Given the description of an element on the screen output the (x, y) to click on. 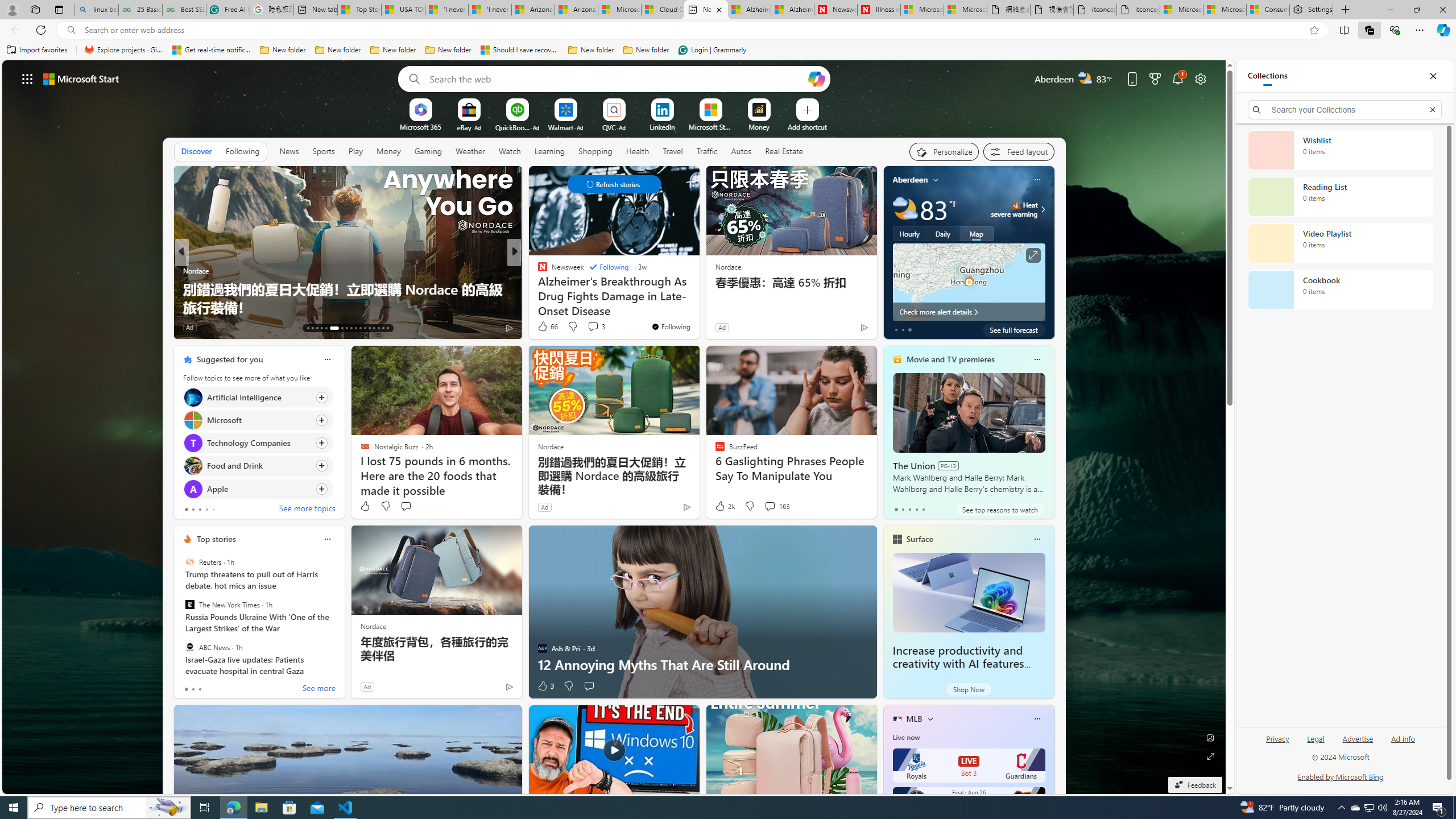
15 Cool Life Facts You Won't Learn in School (347, 307)
View comments 26 Comment (592, 327)
Free AI Writing Assistance for Students | Grammarly (227, 9)
95 Like (543, 327)
55 Like (543, 327)
AutomationID: backgroundImagePicture (613, 426)
tab-0 (185, 689)
Import favorites (36, 49)
